Given the description of an element on the screen output the (x, y) to click on. 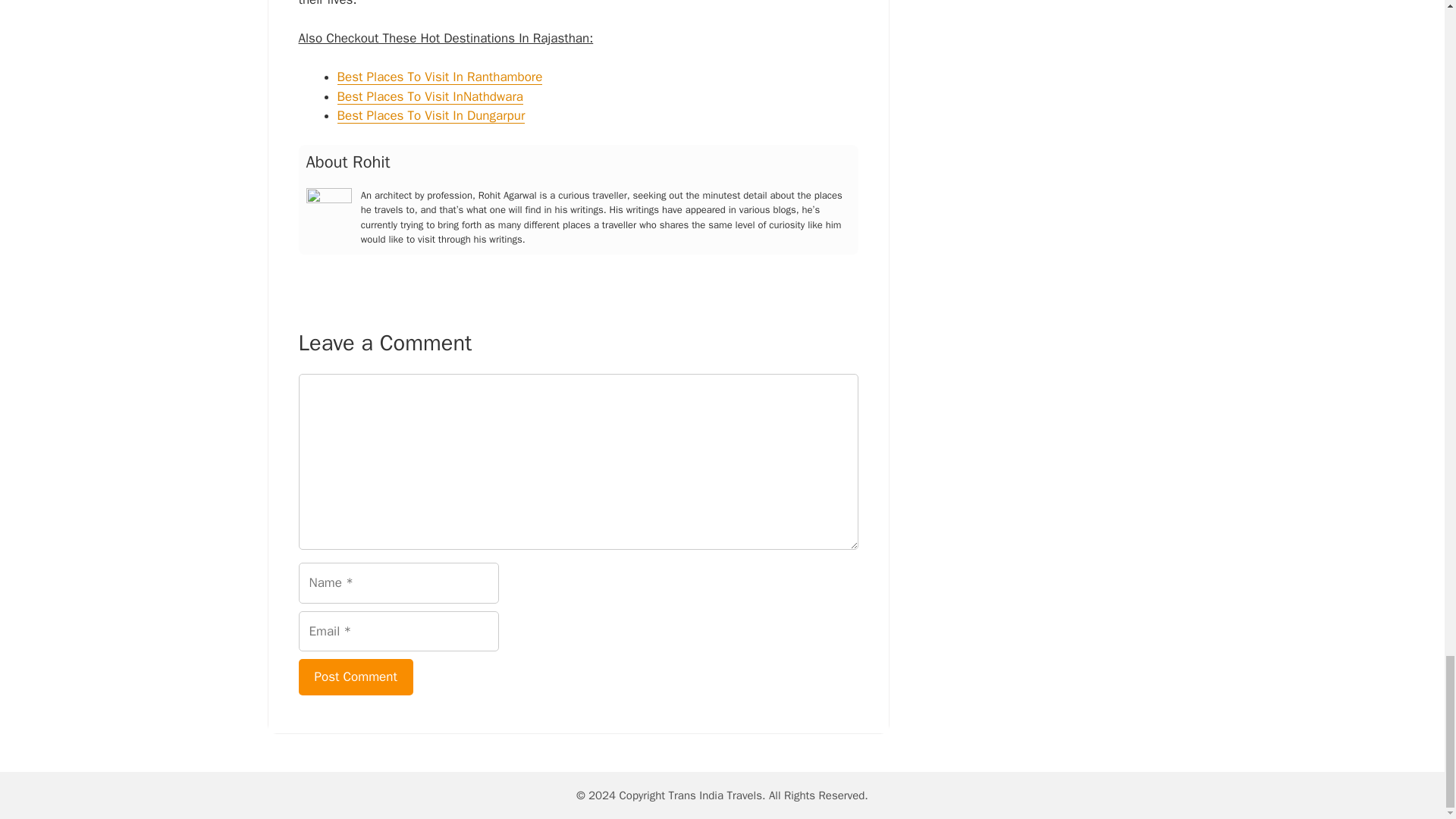
Post Comment (355, 677)
